Given the description of an element on the screen output the (x, y) to click on. 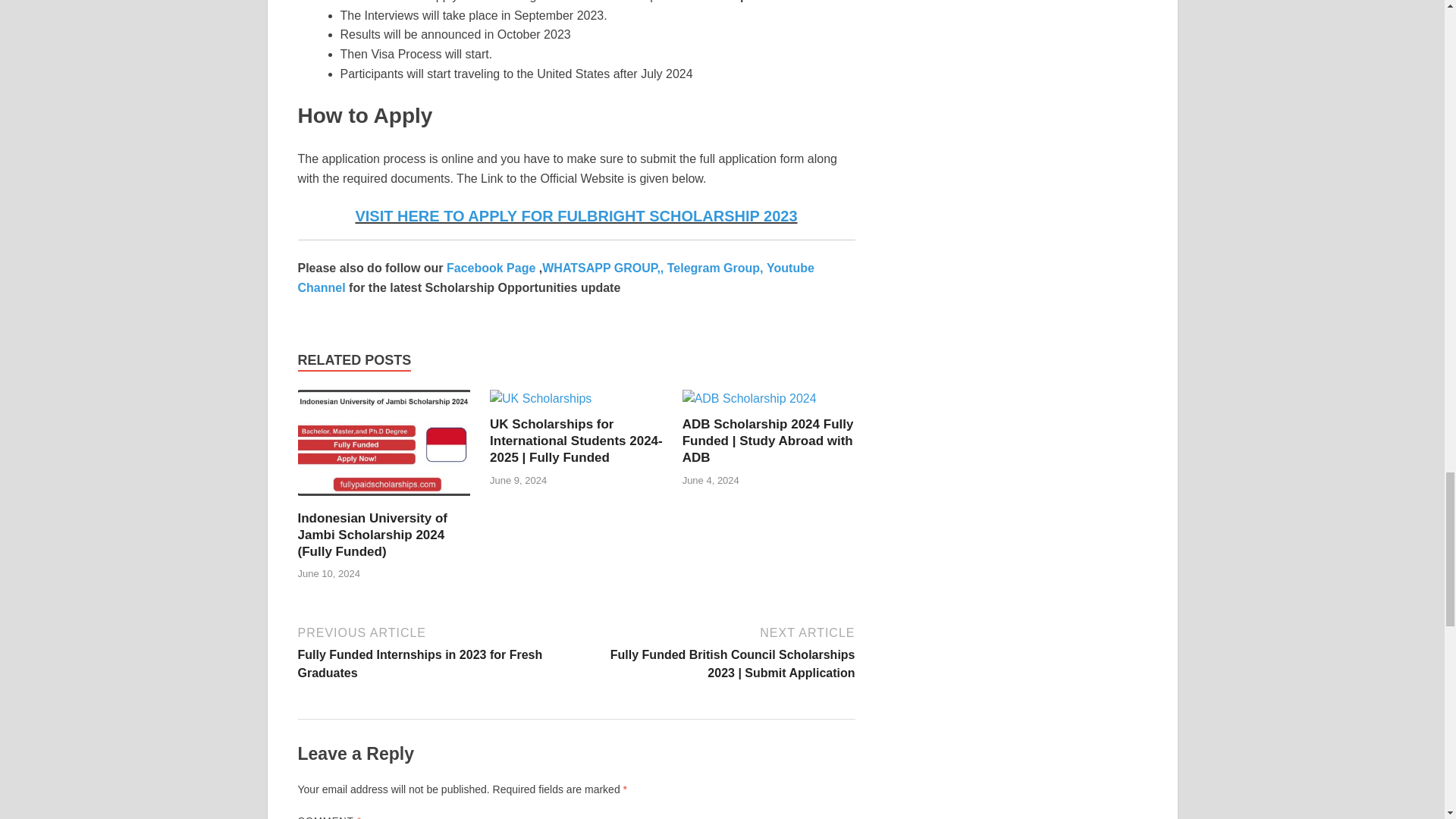
Telegram Group, (714, 267)
VISIT HERE TO APPLY FOR FULBRIGHT SCHOLARSHIP 2023 (575, 216)
Facebook Page (490, 267)
Youtube Channel (555, 277)
WHATSAPP GROUP,, (603, 267)
